Given the description of an element on the screen output the (x, y) to click on. 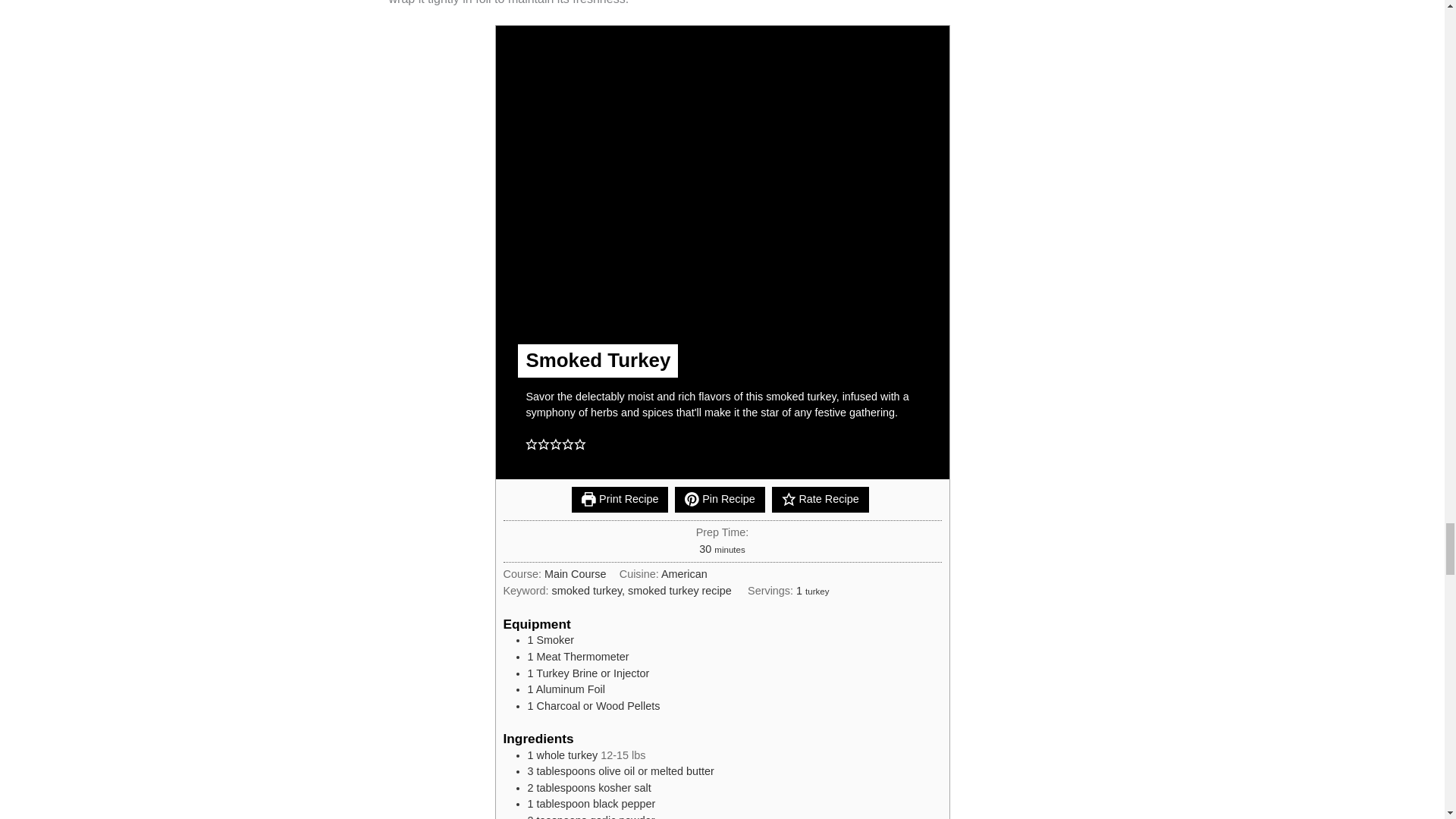
Print Recipe (620, 499)
Rate Recipe (820, 499)
Pin Recipe (719, 499)
